Given the description of an element on the screen output the (x, y) to click on. 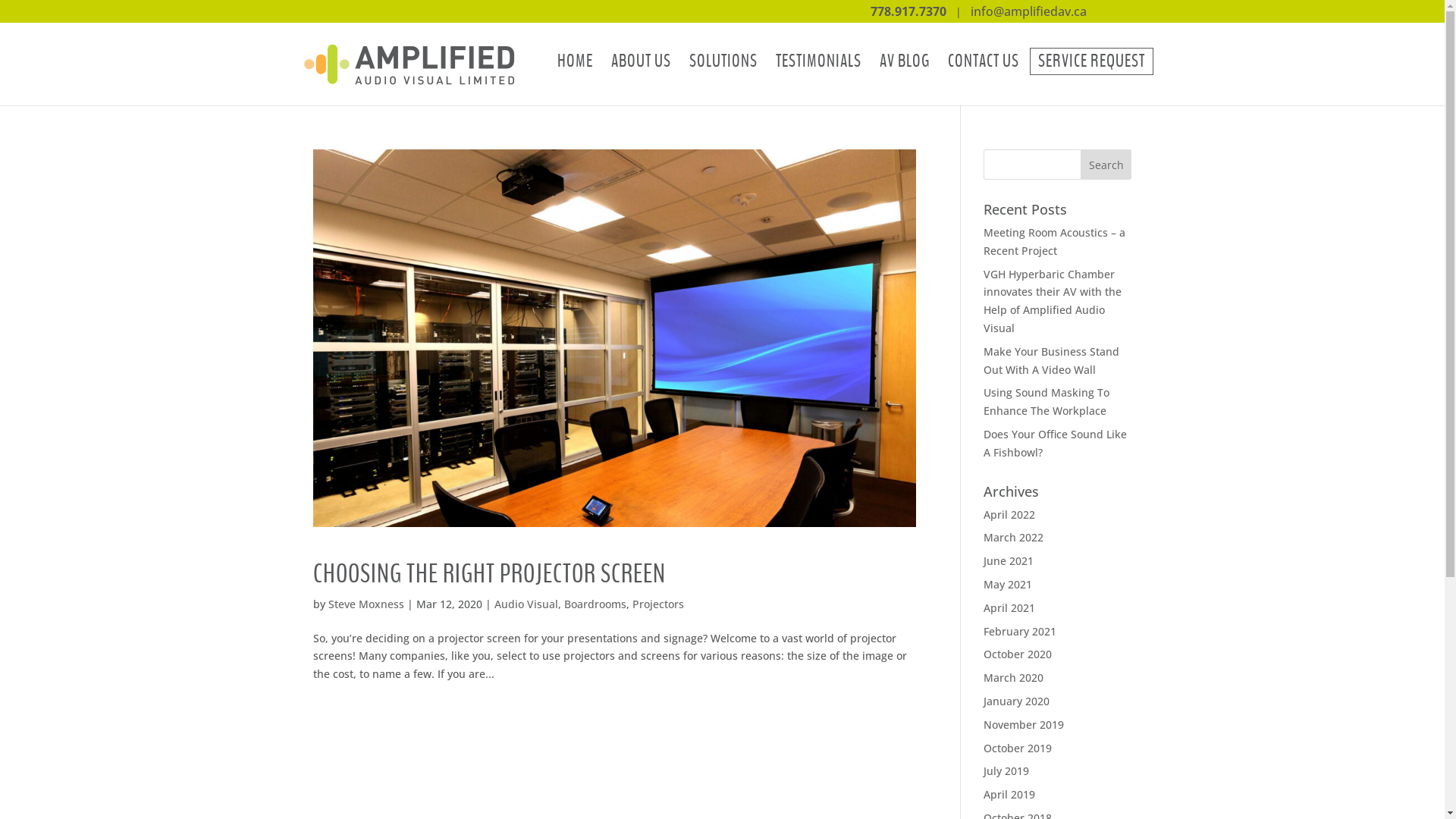
CHOOSING THE RIGHT PROJECTOR SCREEN Element type: text (488, 574)
Boardrooms Element type: text (595, 603)
January 2020 Element type: text (1016, 700)
June 2021 Element type: text (1008, 560)
info@amplifiedav.ca Element type: text (1028, 11)
Using Sound Masking To Enhance The Workplace Element type: text (1046, 401)
CONTACT US Element type: text (983, 61)
HOME Element type: text (574, 61)
Steve Moxness Element type: text (365, 603)
778.917.7370 Element type: text (908, 11)
SERVICE REQUEST Element type: text (1091, 61)
April 2021 Element type: text (1009, 607)
November 2019 Element type: text (1023, 724)
October 2019 Element type: text (1017, 747)
Does Your Office Sound Like A Fishbowl? Element type: text (1054, 442)
May 2021 Element type: text (1007, 584)
April 2022 Element type: text (1009, 514)
Search Element type: text (1106, 164)
March 2020 Element type: text (1013, 677)
Projectors Element type: text (658, 603)
April 2019 Element type: text (1009, 794)
ABOUT US Element type: text (640, 61)
October 2020 Element type: text (1017, 653)
Make Your Business Stand Out With A Video Wall Element type: text (1051, 360)
Audio Visual Element type: text (526, 603)
SOLUTIONS Element type: text (722, 61)
February 2021 Element type: text (1019, 631)
AV BLOG Element type: text (904, 61)
March 2022 Element type: text (1013, 537)
TESTIMONIALS Element type: text (817, 61)
July 2019 Element type: text (1006, 770)
